Given the description of an element on the screen output the (x, y) to click on. 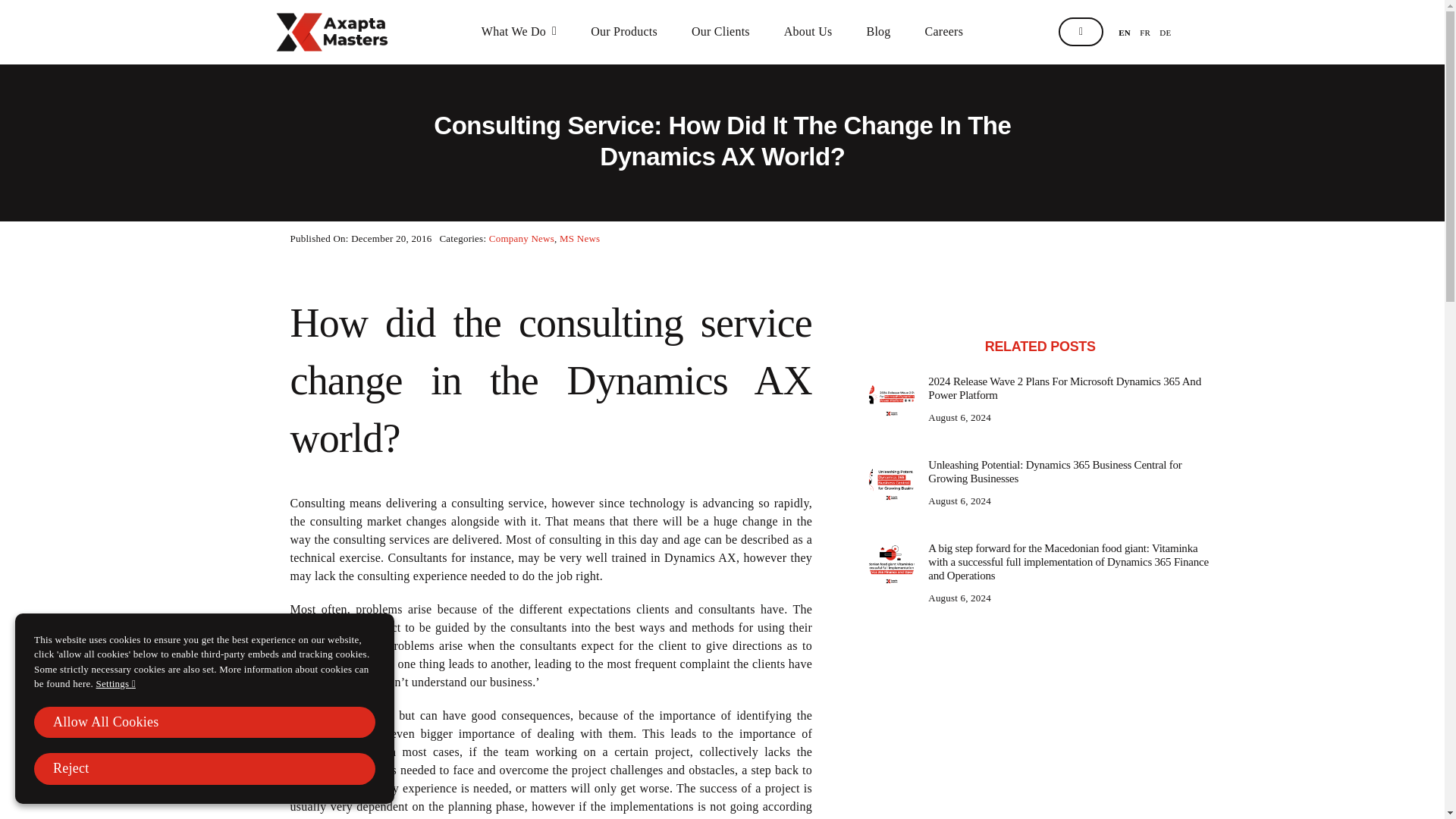
French (1145, 31)
Our Clients (720, 32)
German (1164, 31)
English (1124, 31)
Our Products (624, 32)
What We Do (518, 32)
